Given the description of an element on the screen output the (x, y) to click on. 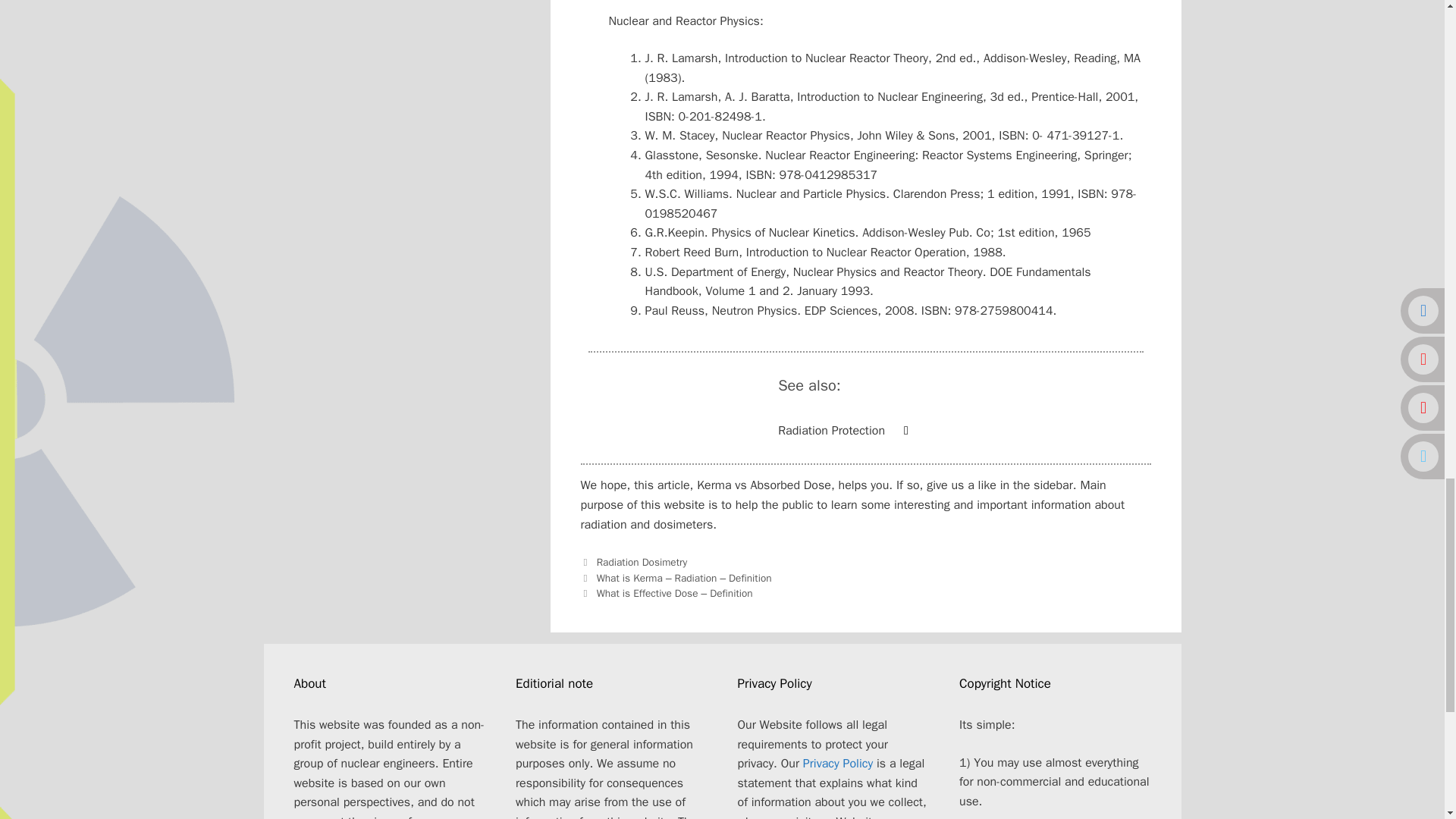
Previous (675, 577)
Radiation Dosimetry (641, 562)
Privacy Policy (837, 763)
Next (666, 593)
